Given the description of an element on the screen output the (x, y) to click on. 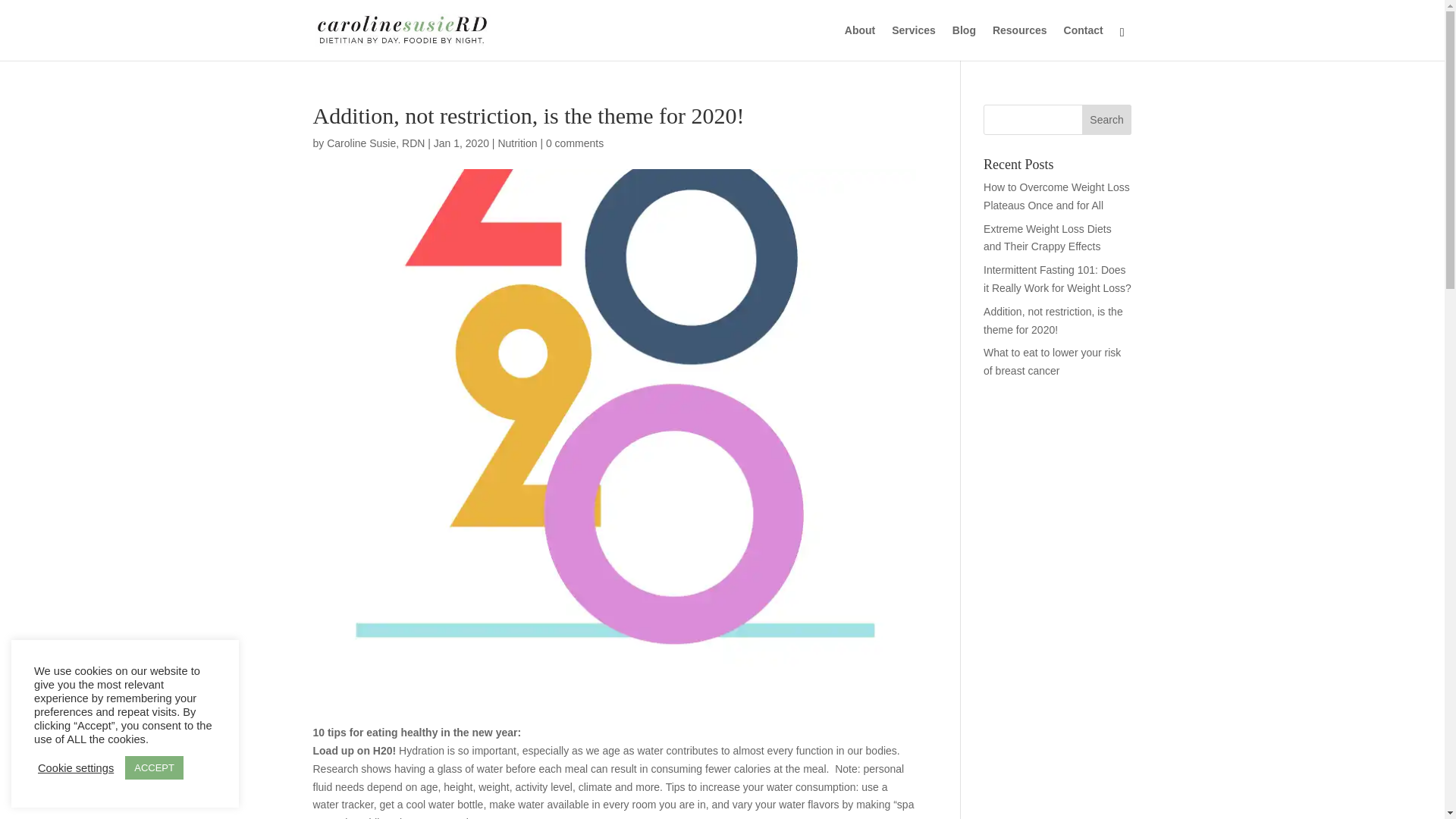
Nutrition (517, 143)
Cookie settings (75, 767)
How to Overcome Weight Loss Plateaus Once and for All  (1056, 195)
0 comments (575, 143)
ACCEPT (154, 767)
Caroline Susie, RDN (375, 143)
Services (913, 42)
Contact (1083, 42)
What to eat to lower your risk of breast cancer (1052, 361)
Posts by Caroline Susie, RDN (375, 143)
Resources (1019, 42)
Search (1106, 119)
Addition, not restriction, is the theme for 2020! (1053, 320)
Extreme Weight Loss Diets and Their Crappy Effects (1048, 237)
